Given the description of an element on the screen output the (x, y) to click on. 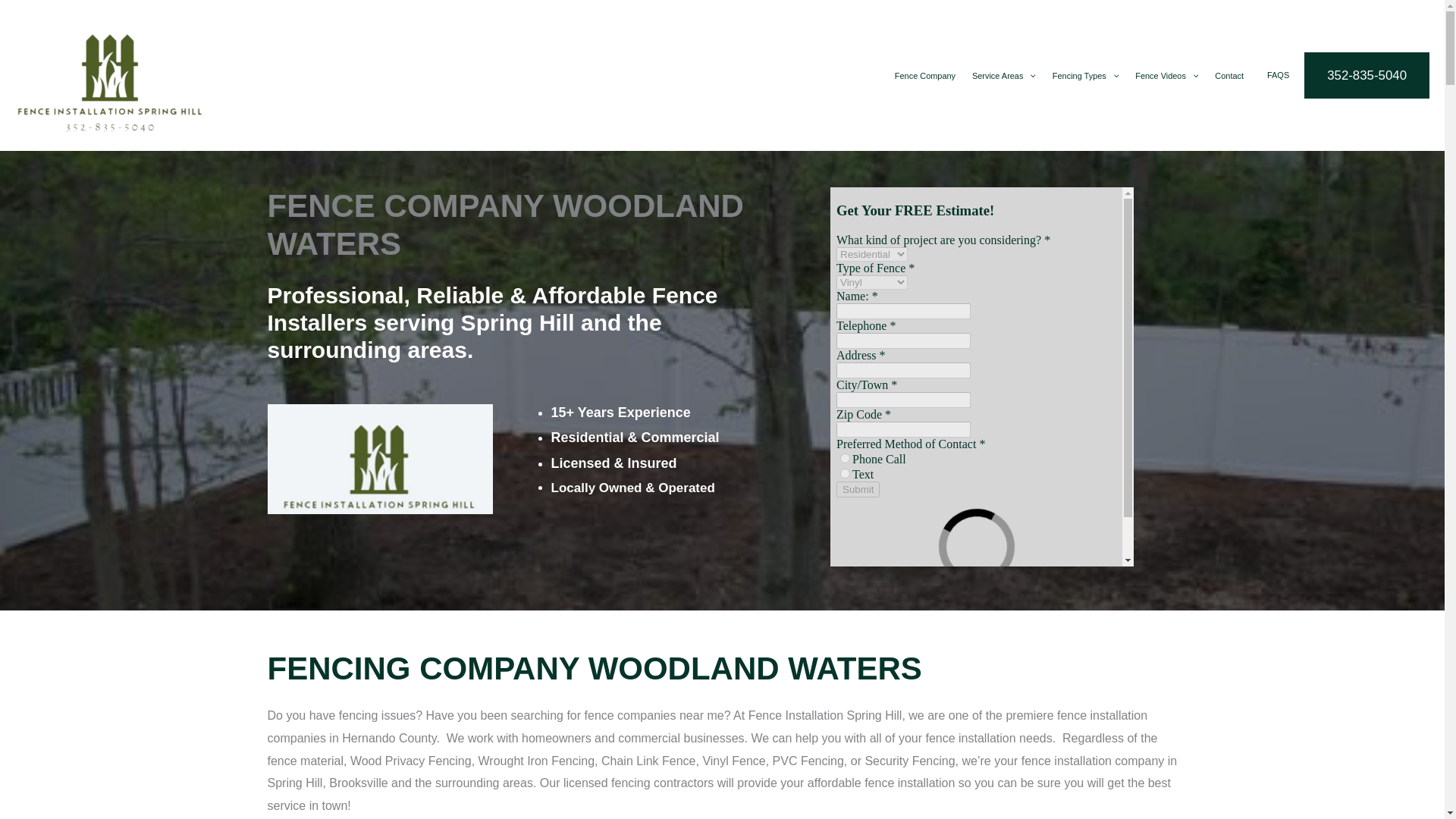
Fence Videos (1166, 75)
Fencing Types (1084, 75)
FAQS (1277, 74)
Service Areas (1003, 75)
Fence Company (924, 75)
